Given the description of an element on the screen output the (x, y) to click on. 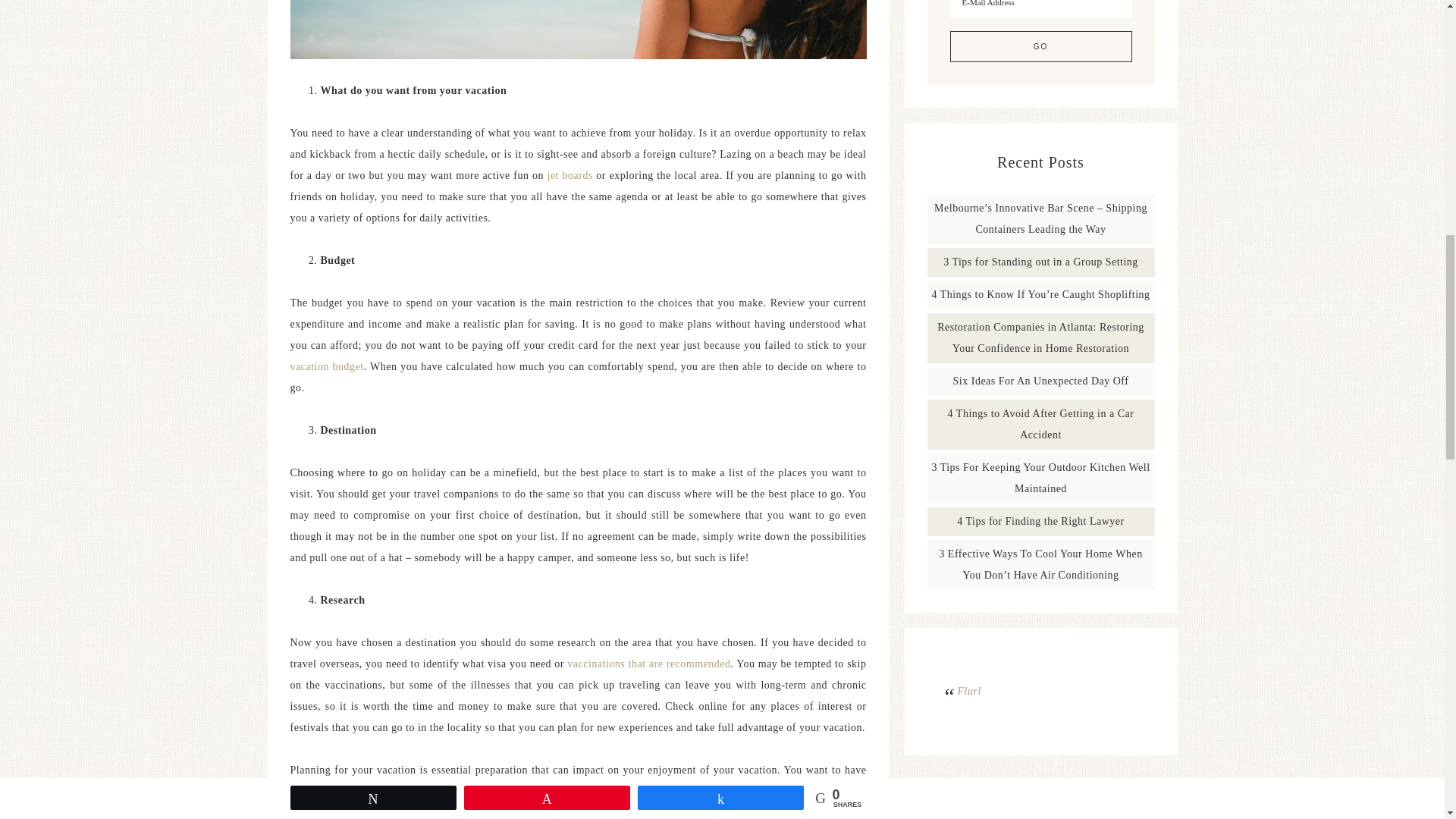
3 Tips for Standing out in a Group Setting (1040, 261)
Go (1040, 46)
3 Tips For Keeping Your Outdoor Kitchen Well Maintained (1040, 477)
vacation budget (325, 366)
Six Ideas For An Unexpected Day Off (1041, 380)
Go (1040, 46)
jet boards (569, 174)
4 Things to Avoid After Getting in a Car Accident (1040, 423)
vaccinations that are recommended (648, 663)
